Given the description of an element on the screen output the (x, y) to click on. 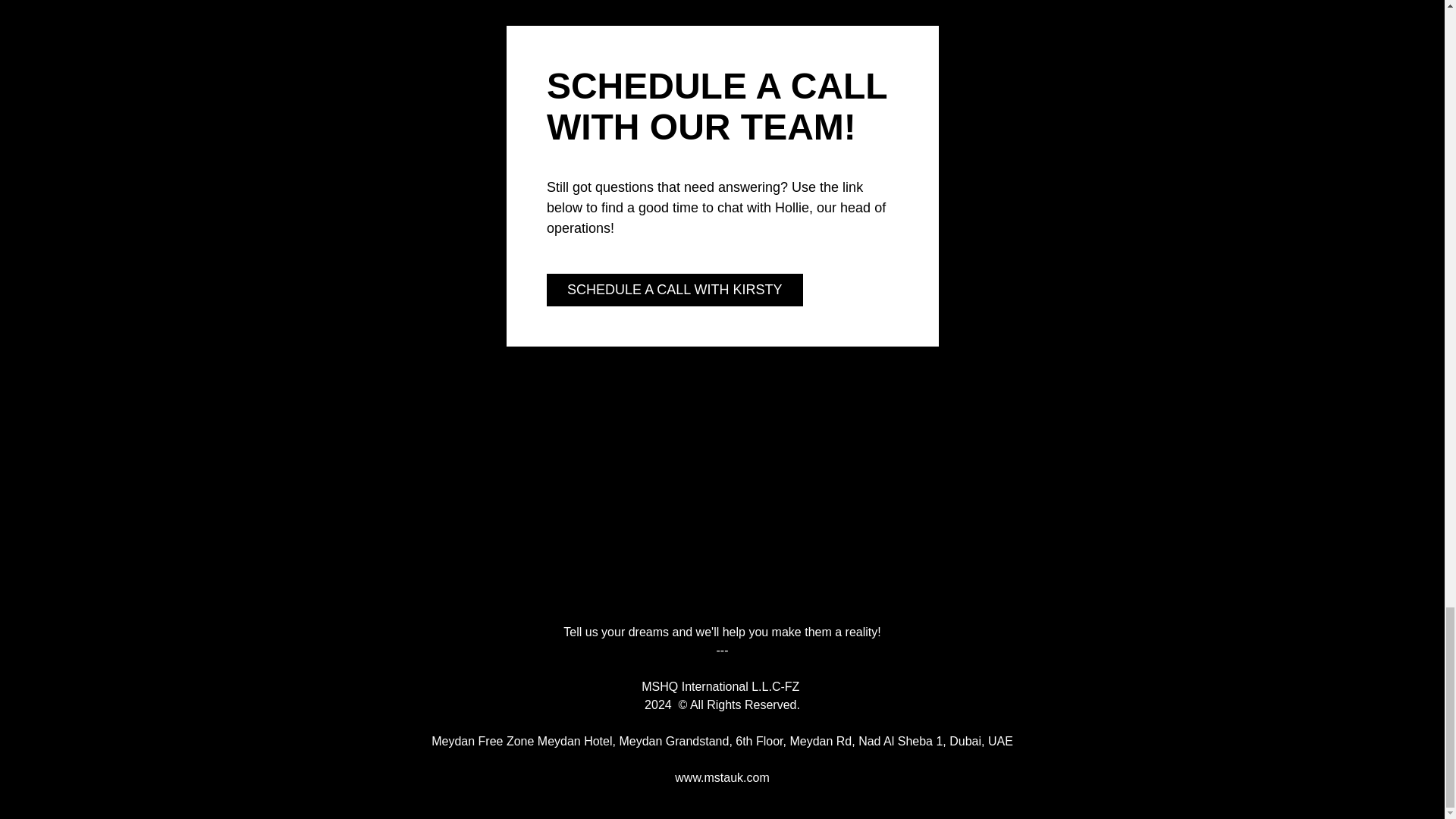
SCHEDULE A CALL WITH KIRSTY (675, 289)
